Given the description of an element on the screen output the (x, y) to click on. 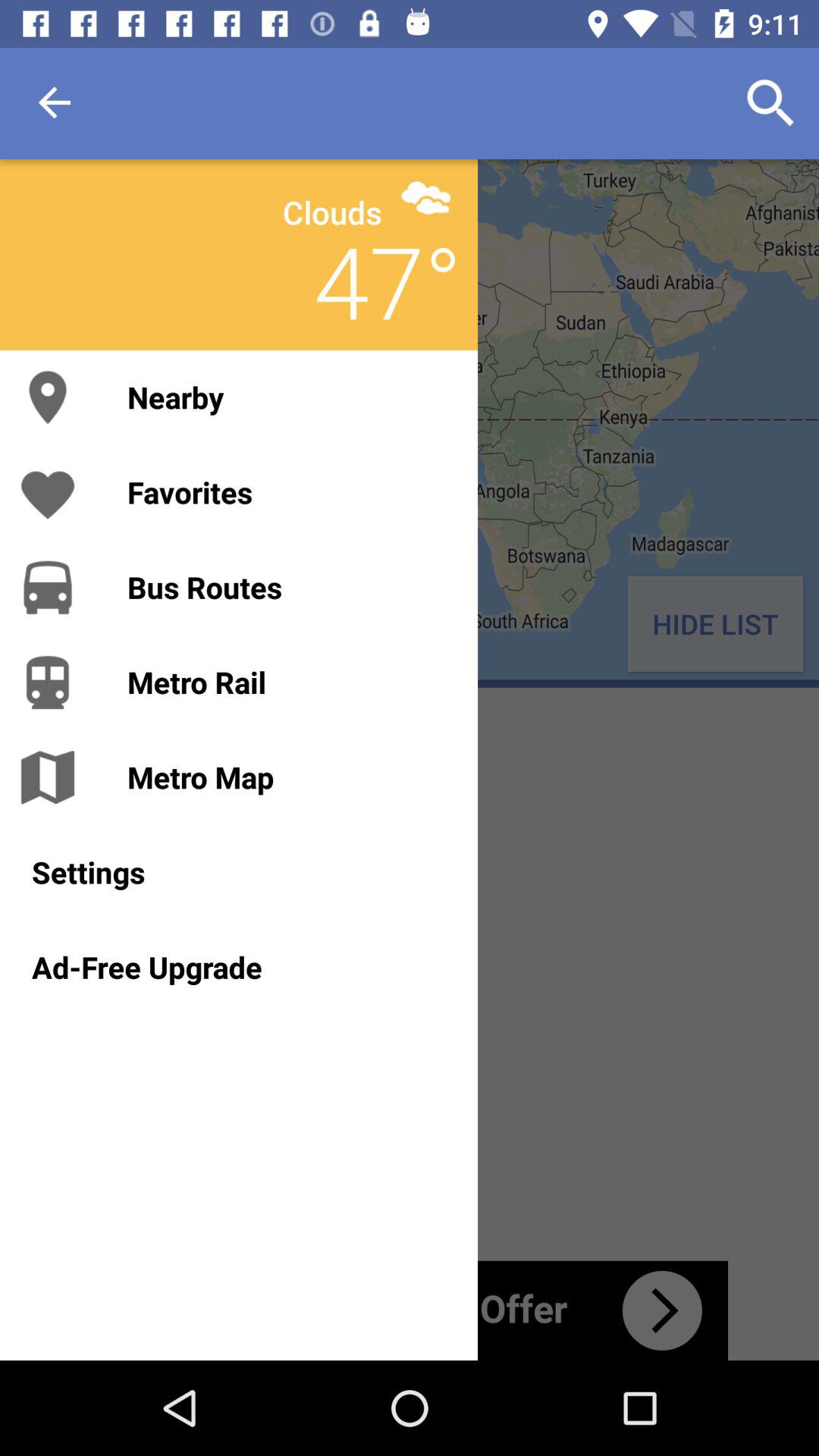
swipe until the metro rail item (286, 682)
